Given the description of an element on the screen output the (x, y) to click on. 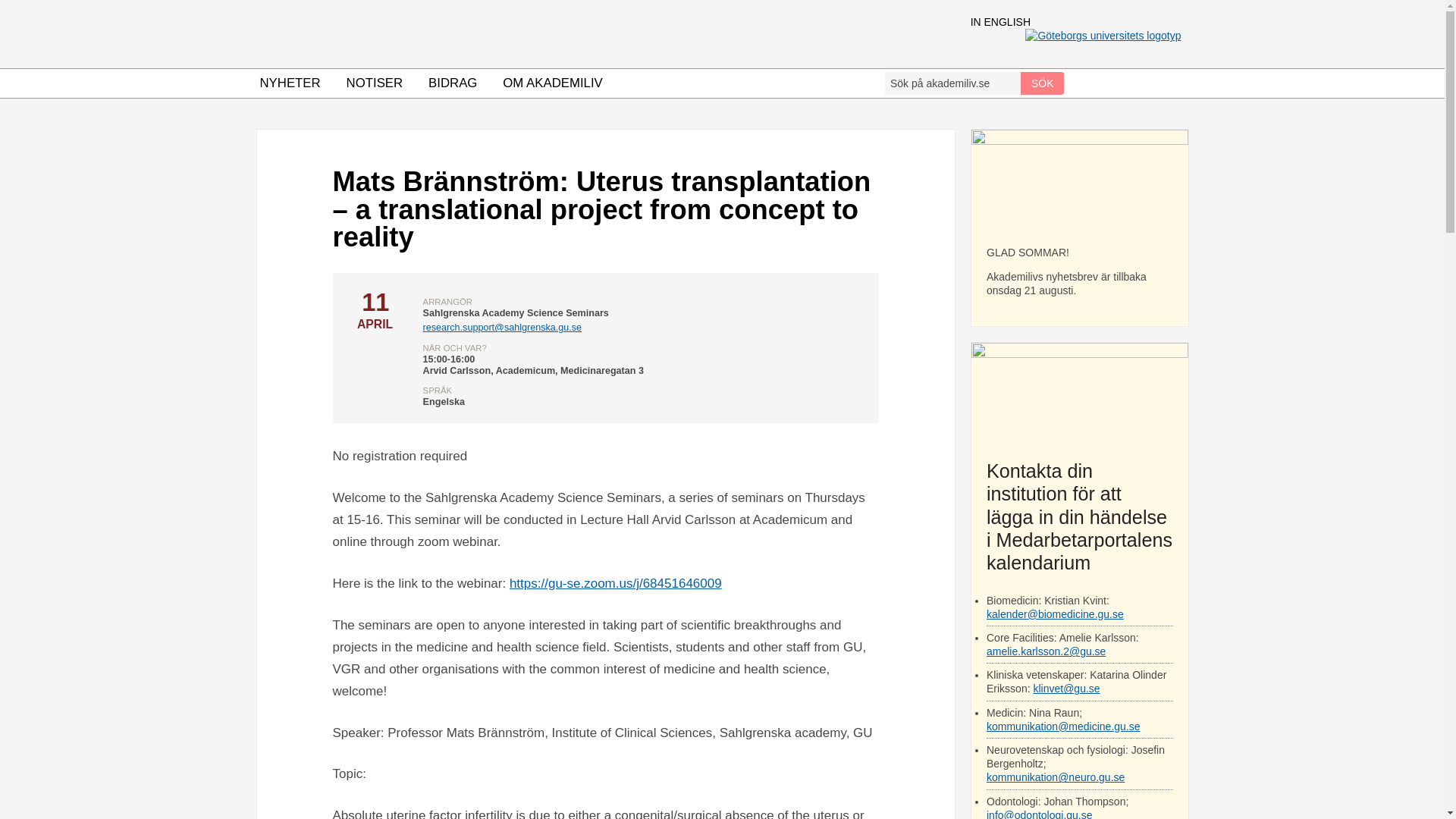
Akademiliv (564, 33)
IN ENGLISH (1000, 21)
NYHETER (289, 82)
2024-04-11 (373, 309)
OM AKADEMILIV (553, 82)
NOTISER (374, 82)
BIDRAG (451, 82)
